Given the description of an element on the screen output the (x, y) to click on. 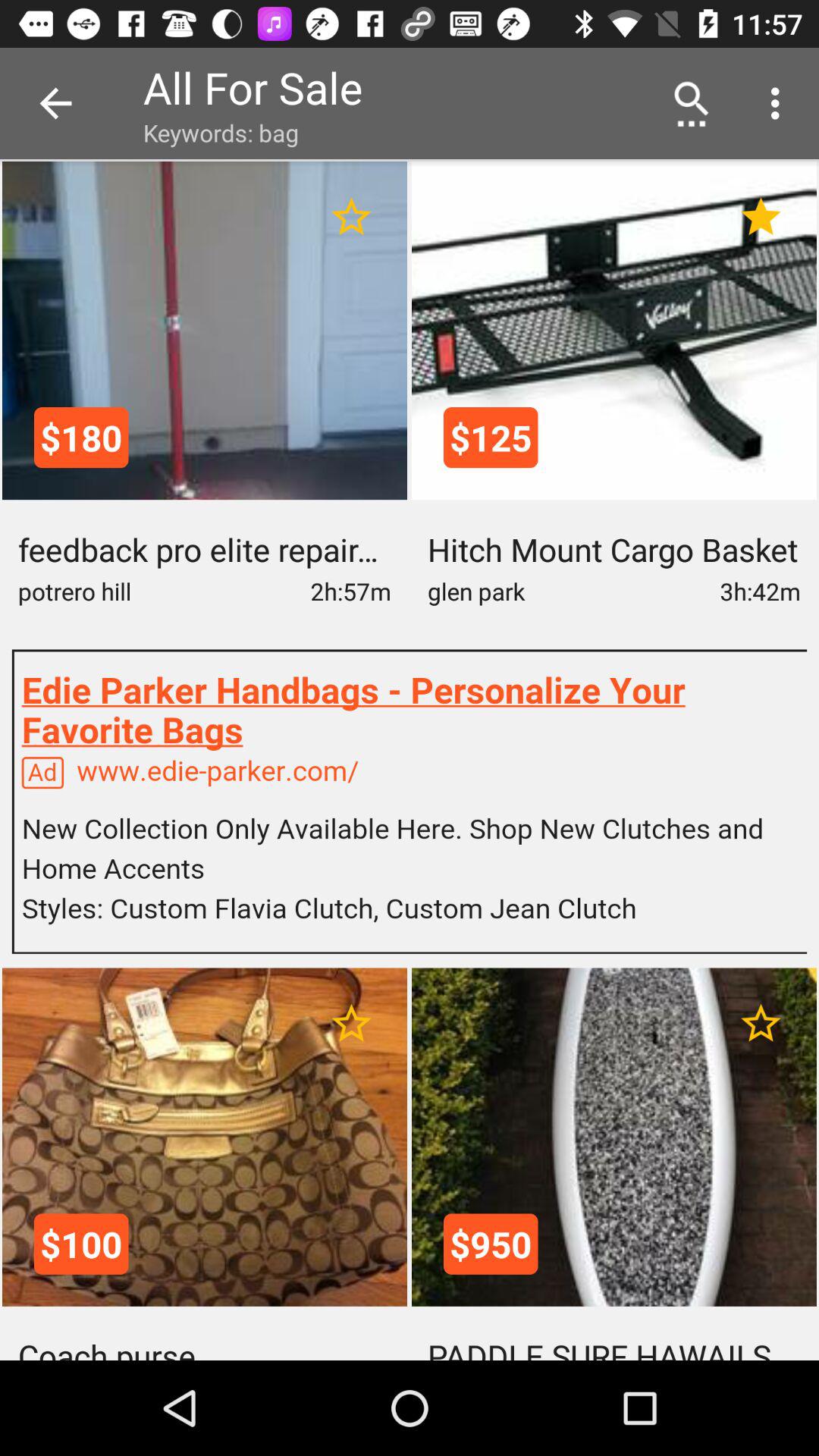
for ratings (760, 1023)
